Given the description of an element on the screen output the (x, y) to click on. 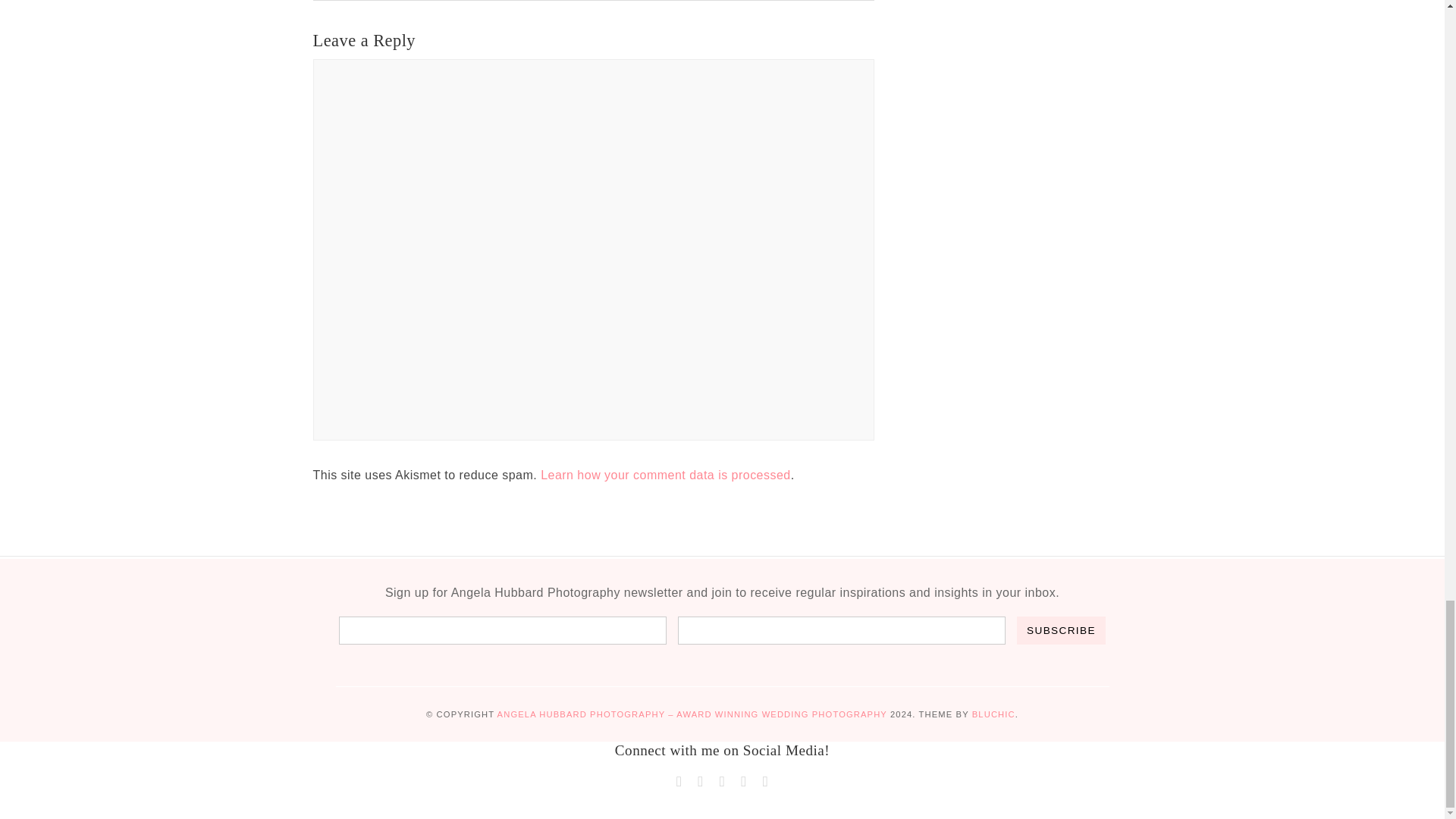
Subscribe (1060, 630)
